Given the description of an element on the screen output the (x, y) to click on. 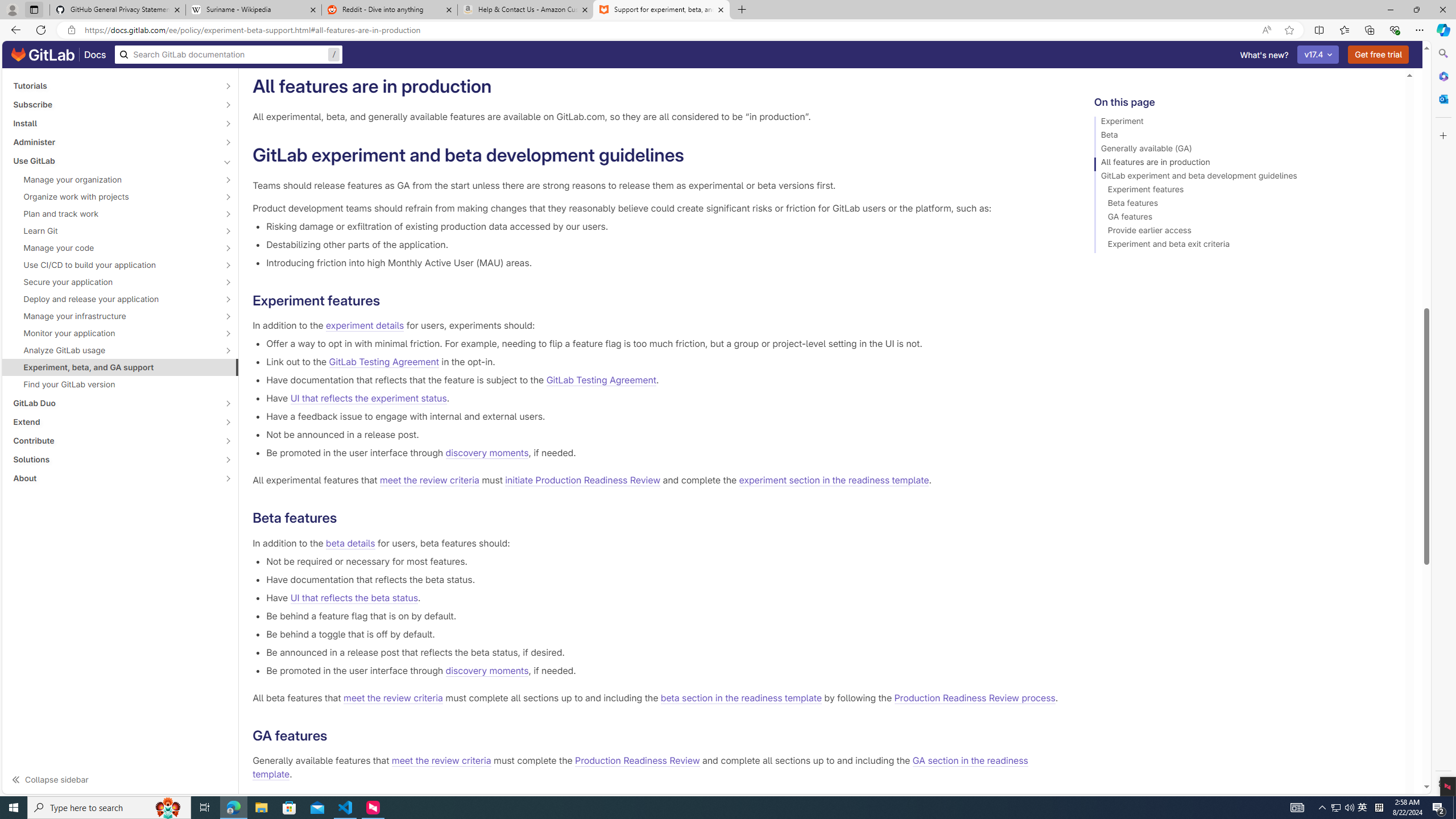
Plan and track work (113, 213)
Experiment and beta exit criteria (1244, 246)
Generally available (GA) (1244, 150)
Manage your code (113, 247)
/ (229, 54)
Extend (113, 421)
Use CI/CD to build your application (113, 264)
Have UI that reflects the experiment status. (662, 398)
